Given the description of an element on the screen output the (x, y) to click on. 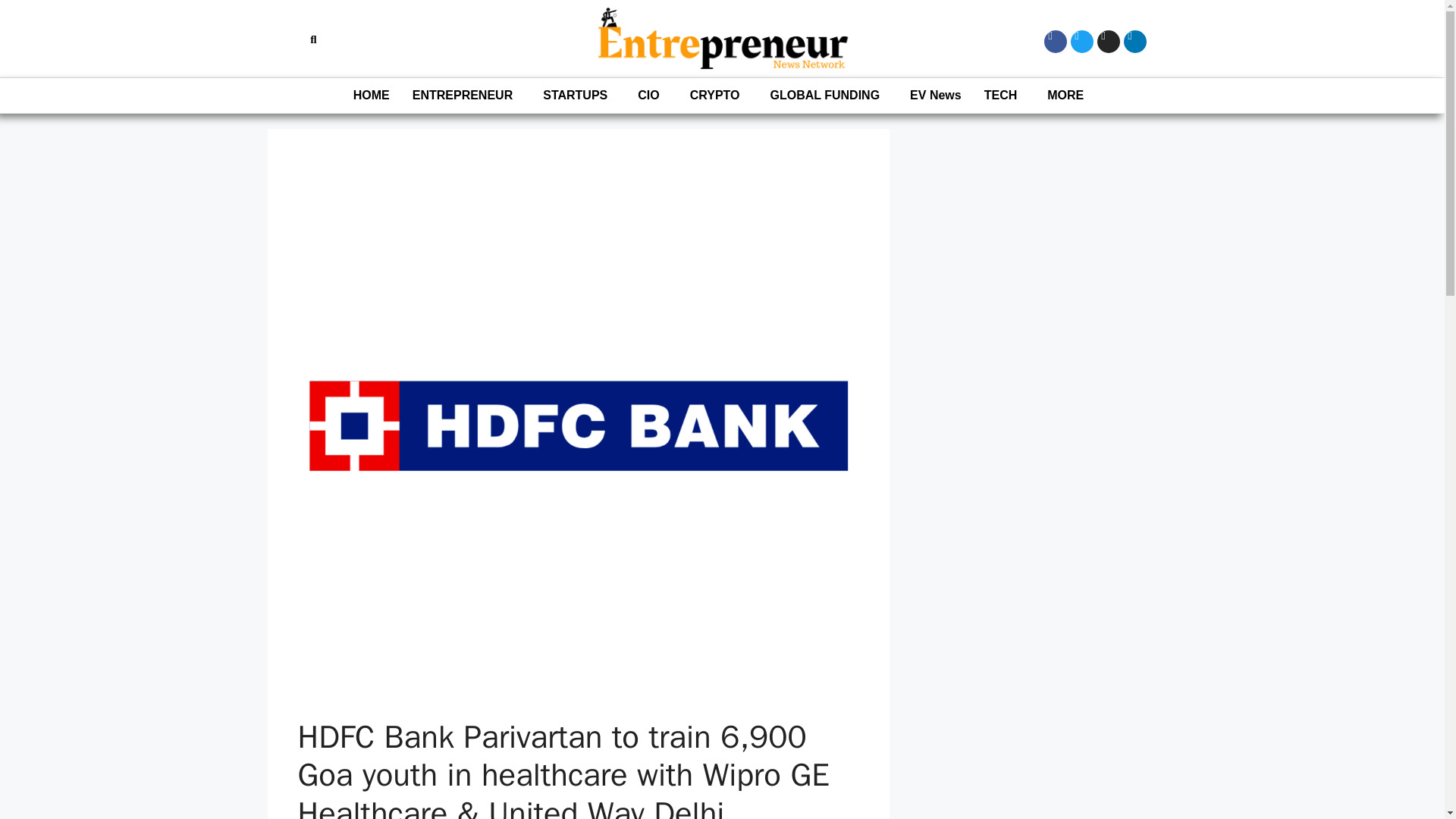
CIO (652, 95)
HOME (371, 95)
EV News (935, 95)
ENTREPRENEUR (466, 95)
MORE (1068, 95)
CRYPTO (718, 95)
STARTUPS (578, 95)
TECH (1004, 95)
GLOBAL FUNDING (828, 95)
